Given the description of an element on the screen output the (x, y) to click on. 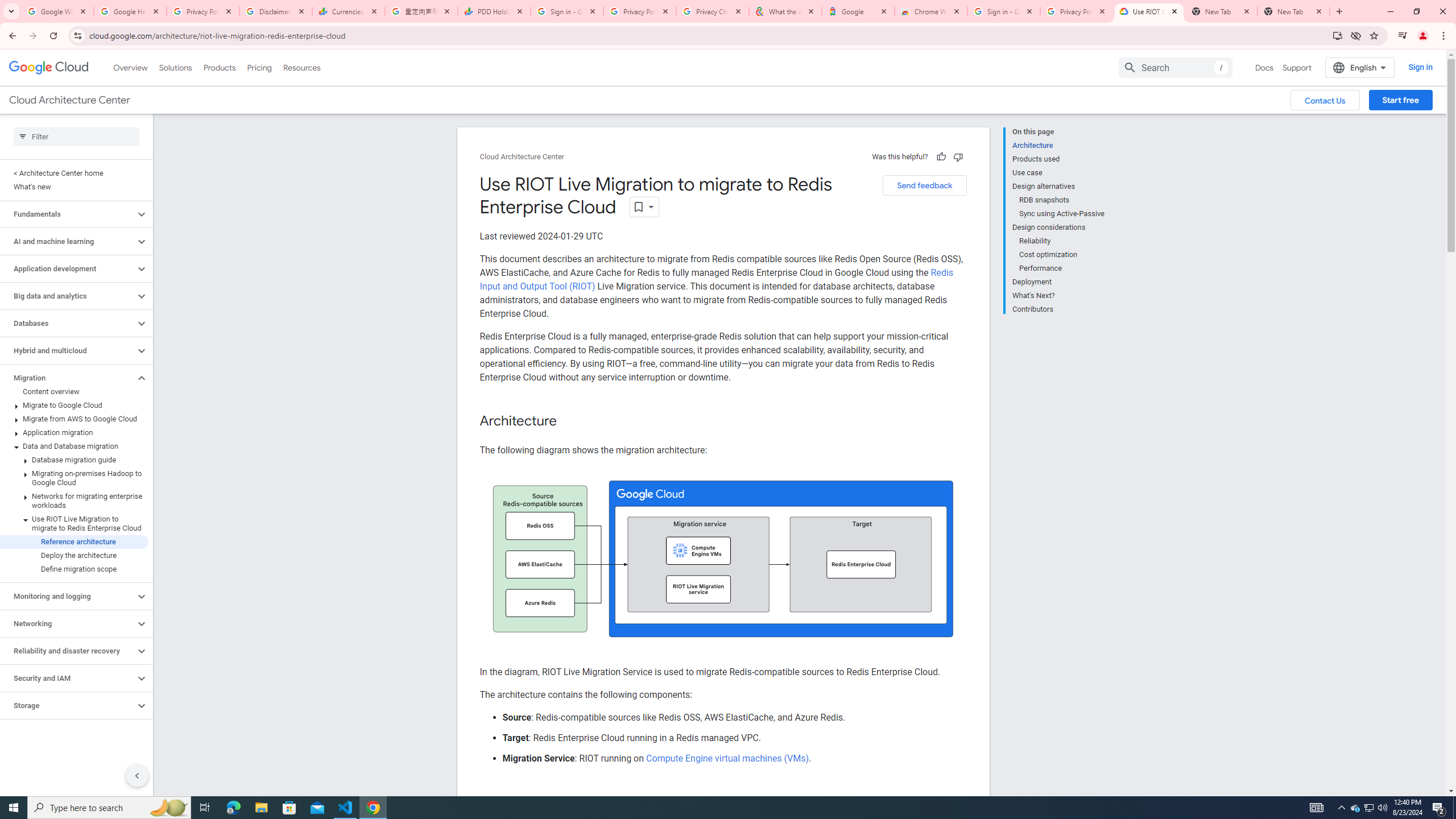
Reliability (1062, 241)
Send feedback (924, 185)
Application migration (74, 432)
What's Next? (1058, 295)
Support (1296, 67)
Contributors (1058, 307)
Google Workspace Admin Community (57, 11)
Products used (1058, 159)
